Given the description of an element on the screen output the (x, y) to click on. 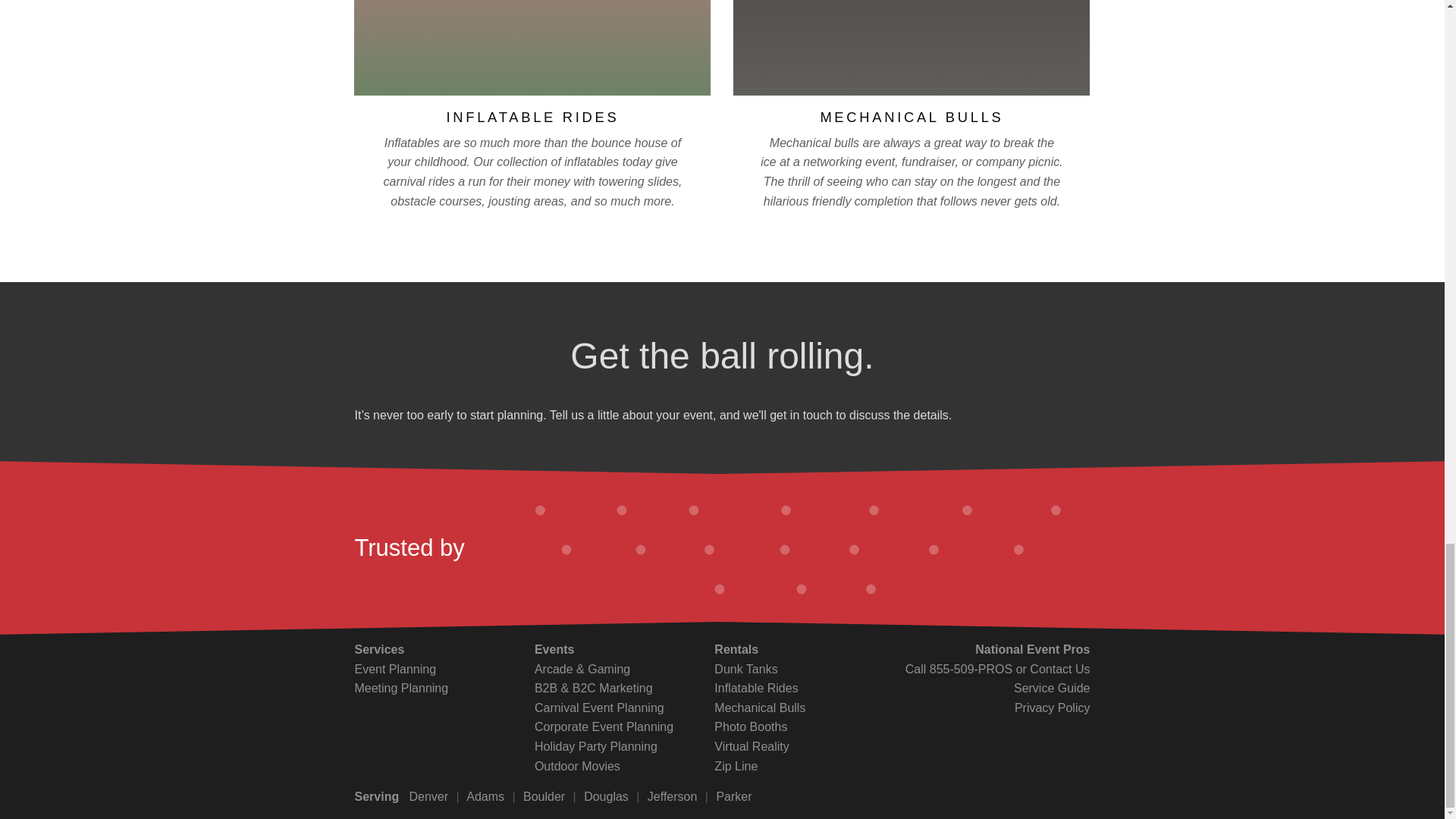
Dunk Tanks (745, 668)
Denver Corporate Event Planning (603, 726)
Services (378, 649)
Carnival Event Planning (598, 707)
Mechanical Bulls (759, 707)
Photo Booths (750, 726)
Meeting Planning (400, 687)
Carnival Event Planning (598, 707)
Virtual Reality (751, 746)
Holiday Party Planning (596, 746)
Events (553, 649)
Event Planning (394, 668)
Denver Inflatable Rentals (755, 687)
Corporate Event Planning (603, 726)
